Given the description of an element on the screen output the (x, y) to click on. 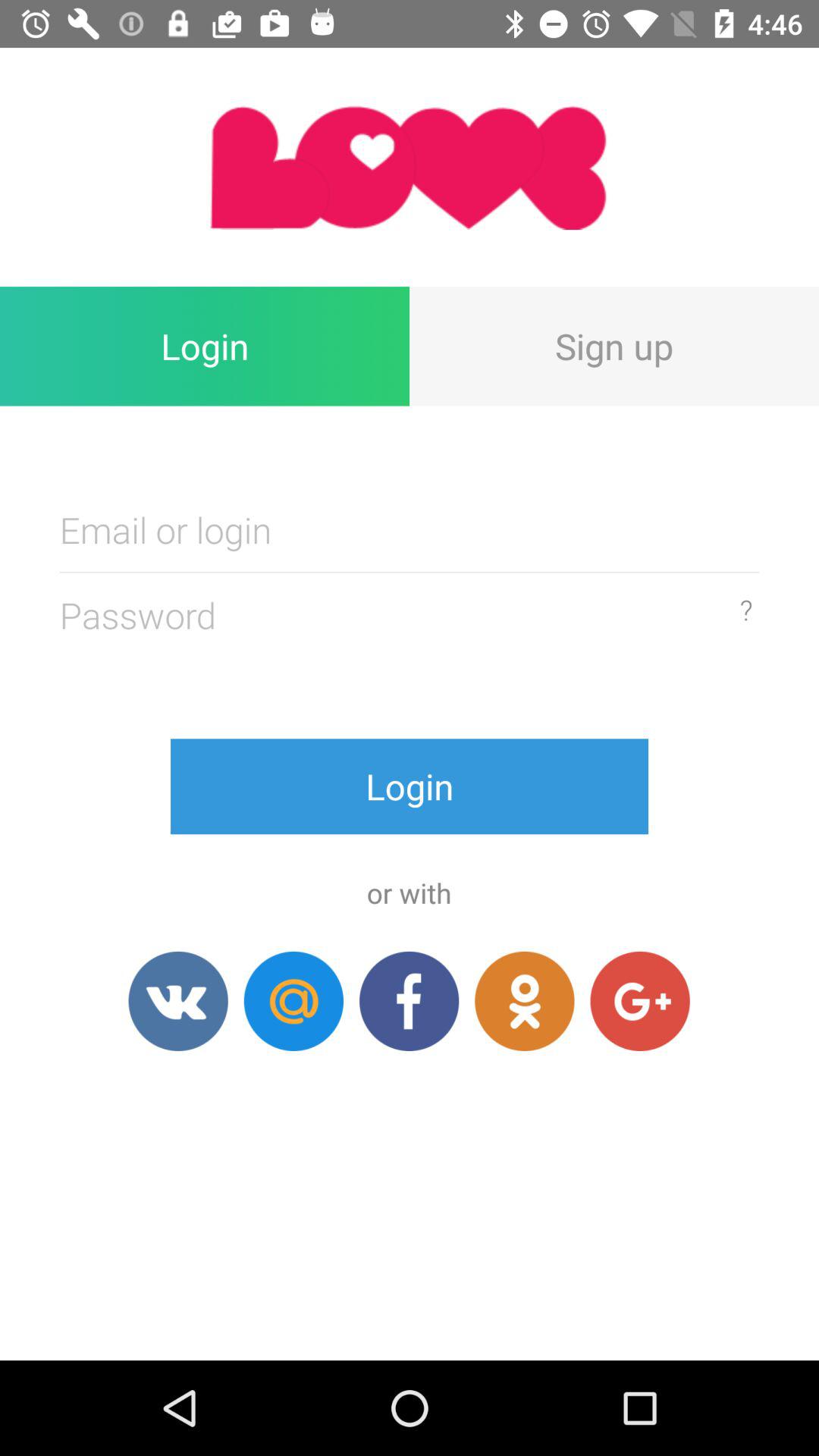
enter login password (409, 529)
